Given the description of an element on the screen output the (x, y) to click on. 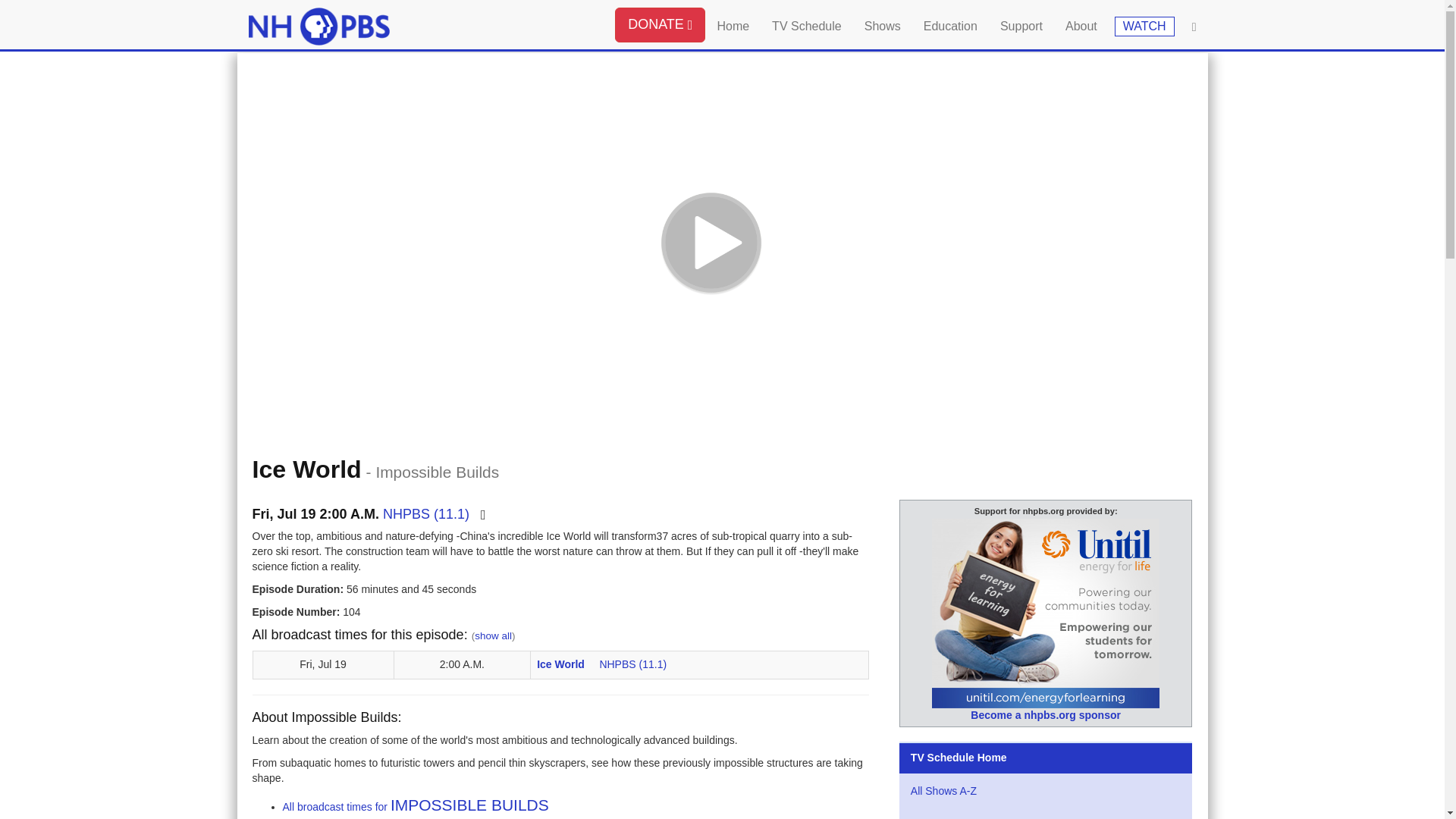
 This airtime is broadcast on NHPBS  (425, 513)
New Hampshire PBS (319, 26)
Support (1021, 24)
TV Schedule (806, 24)
 This airtime is broadcast on NHPBS  (632, 664)
All broadcast times for IMPOSSIBLE BUILDS (415, 806)
WATCH (1144, 26)
DONATE (659, 24)
Education (950, 24)
About (1081, 24)
show all (493, 635)
Home (732, 24)
Shows (882, 24)
Ice World (562, 664)
